Given the description of an element on the screen output the (x, y) to click on. 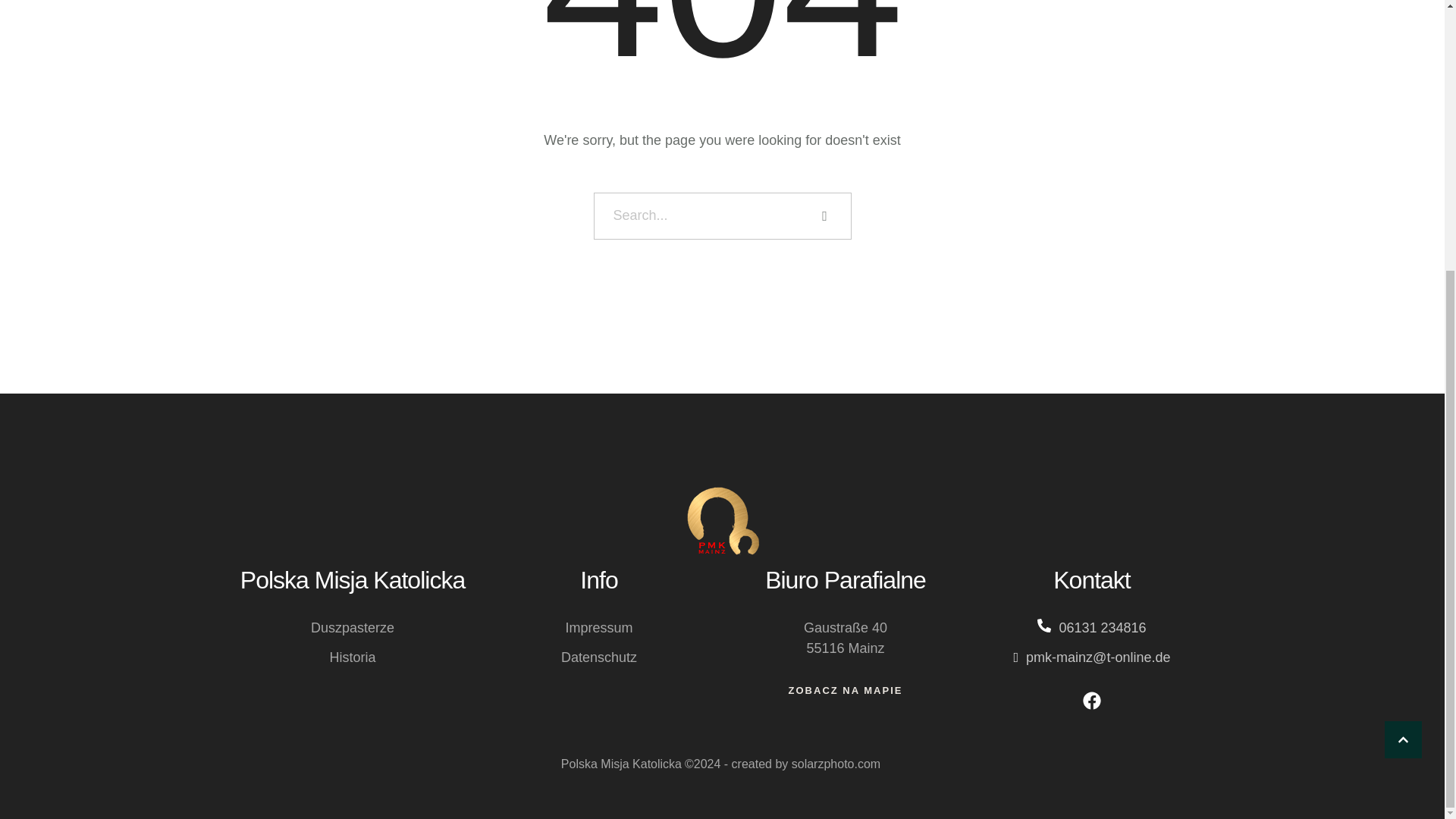
CLICK HERE (1403, 344)
06131 234816 (1101, 627)
ZOBACZ NA MAPIE (845, 690)
Polska Misja Katolicka Mainz (722, 522)
Datenschutz (598, 657)
Impressum (597, 627)
Duszpasterze (352, 627)
CLICK HERE (1403, 344)
Historia (352, 657)
CLICK HERE (1403, 344)
